Given the description of an element on the screen output the (x, y) to click on. 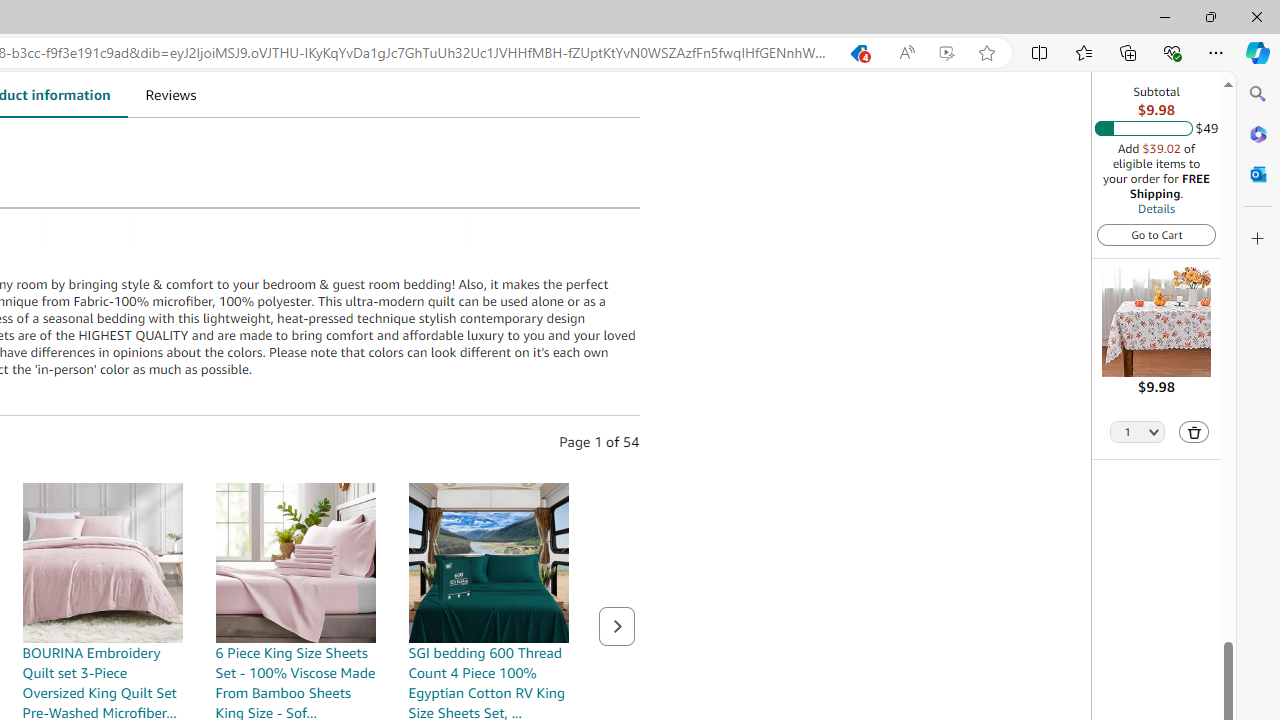
Next page of related Sponsored Products (615, 625)
